Given the description of an element on the screen output the (x, y) to click on. 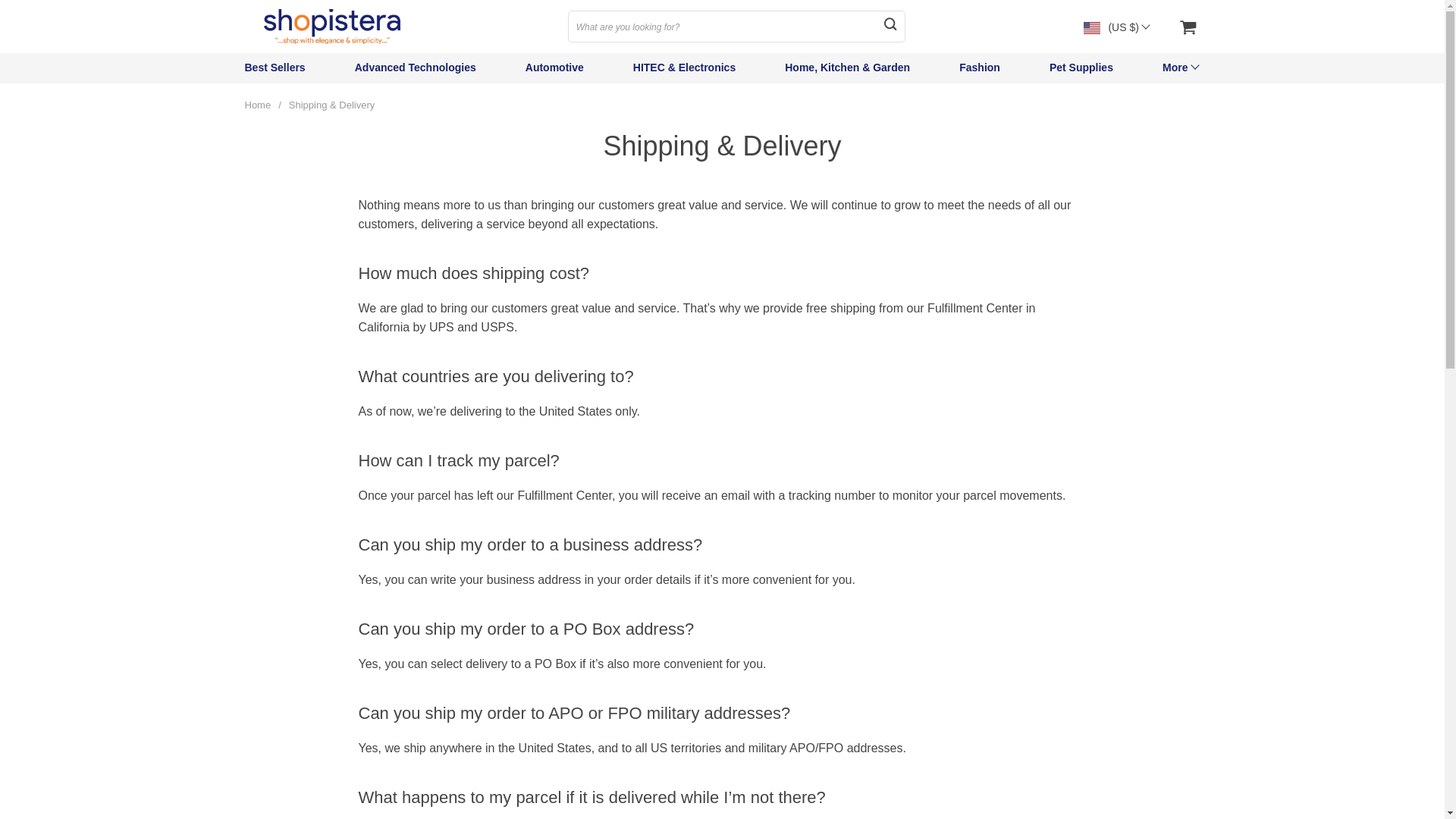
Automotive (554, 67)
Best Sellers (274, 67)
Fashion (979, 67)
Pet Supplies (1081, 67)
Advanced Technologies (415, 67)
